Given the description of an element on the screen output the (x, y) to click on. 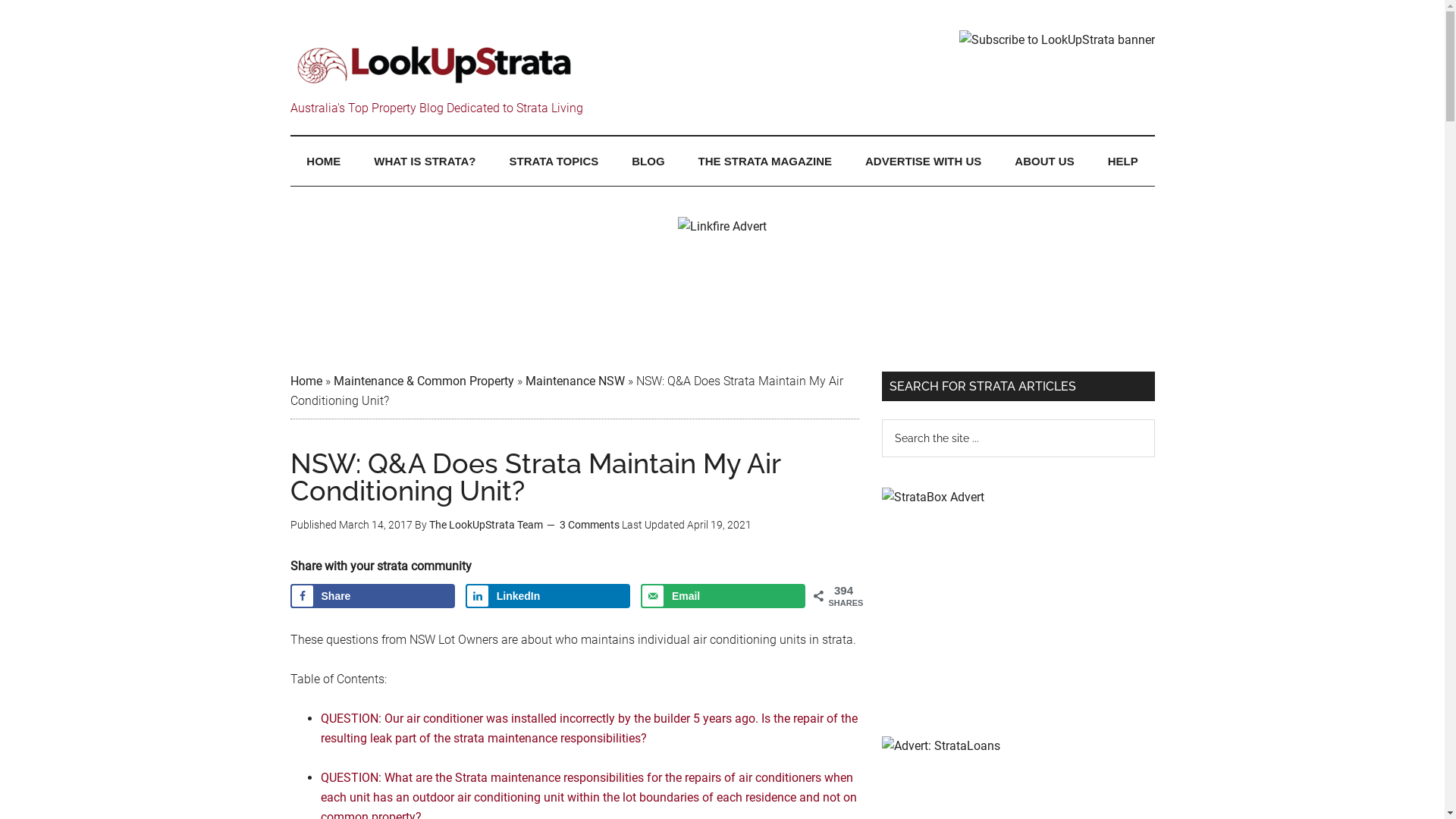
Share Element type: text (372, 595)
BLOG Element type: text (647, 160)
LookUpStrata Element type: text (433, 64)
Home Element type: text (305, 380)
Email Element type: text (723, 595)
3 Comments Element type: text (589, 524)
THE STRATA MAGAZINE Element type: text (765, 160)
Maintenance & Common Property Element type: text (423, 380)
ADVERTISE WITH US Element type: text (923, 160)
Search Element type: text (1154, 418)
WHAT IS STRATA? Element type: text (424, 160)
HELP Element type: text (1122, 160)
The LookUpStrata Team Element type: text (485, 524)
LinkedIn Element type: text (547, 595)
HOME Element type: text (323, 160)
STRATA TOPICS Element type: text (553, 160)
Maintenance NSW Element type: text (574, 380)
ABOUT US Element type: text (1043, 160)
